Given the description of an element on the screen output the (x, y) to click on. 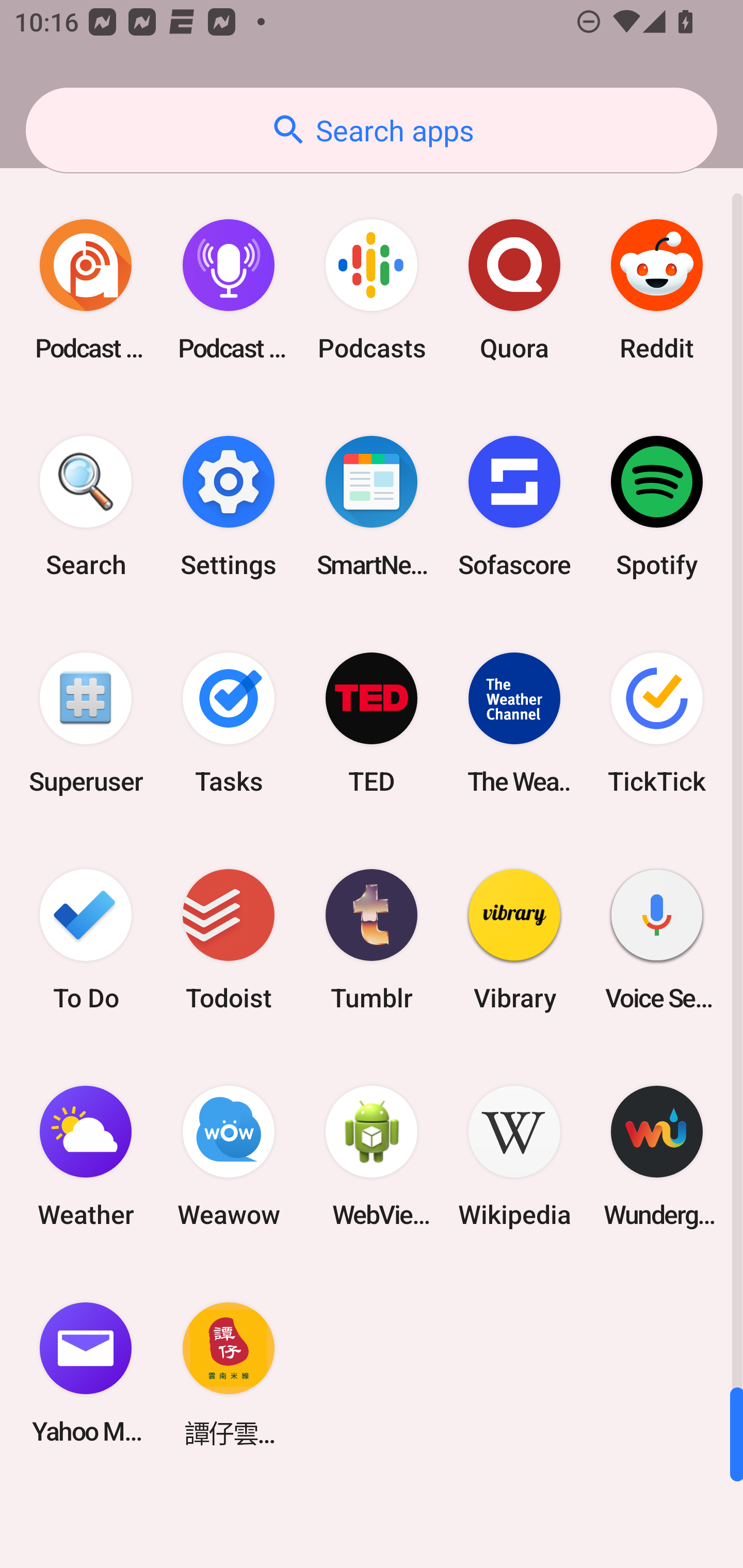
  Search apps (371, 130)
Podcast Addict (85, 289)
Podcast Player (228, 289)
Podcasts (371, 289)
Quora (514, 289)
Reddit (656, 289)
Search (85, 506)
Settings (228, 506)
SmartNews (371, 506)
Sofascore (514, 506)
Spotify (656, 506)
Superuser (85, 722)
Tasks (228, 722)
TED (371, 722)
The Weather Channel (514, 722)
TickTick (656, 722)
To Do (85, 939)
Todoist (228, 939)
Tumblr (371, 939)
Vibrary (514, 939)
Voice Search (656, 939)
Weather (85, 1156)
Weawow (228, 1156)
WebView Browser Tester (371, 1156)
Wikipedia (514, 1156)
Wunderground (656, 1156)
Yahoo Mail (85, 1373)
譚仔雲南米線 (228, 1373)
